Given the description of an element on the screen output the (x, y) to click on. 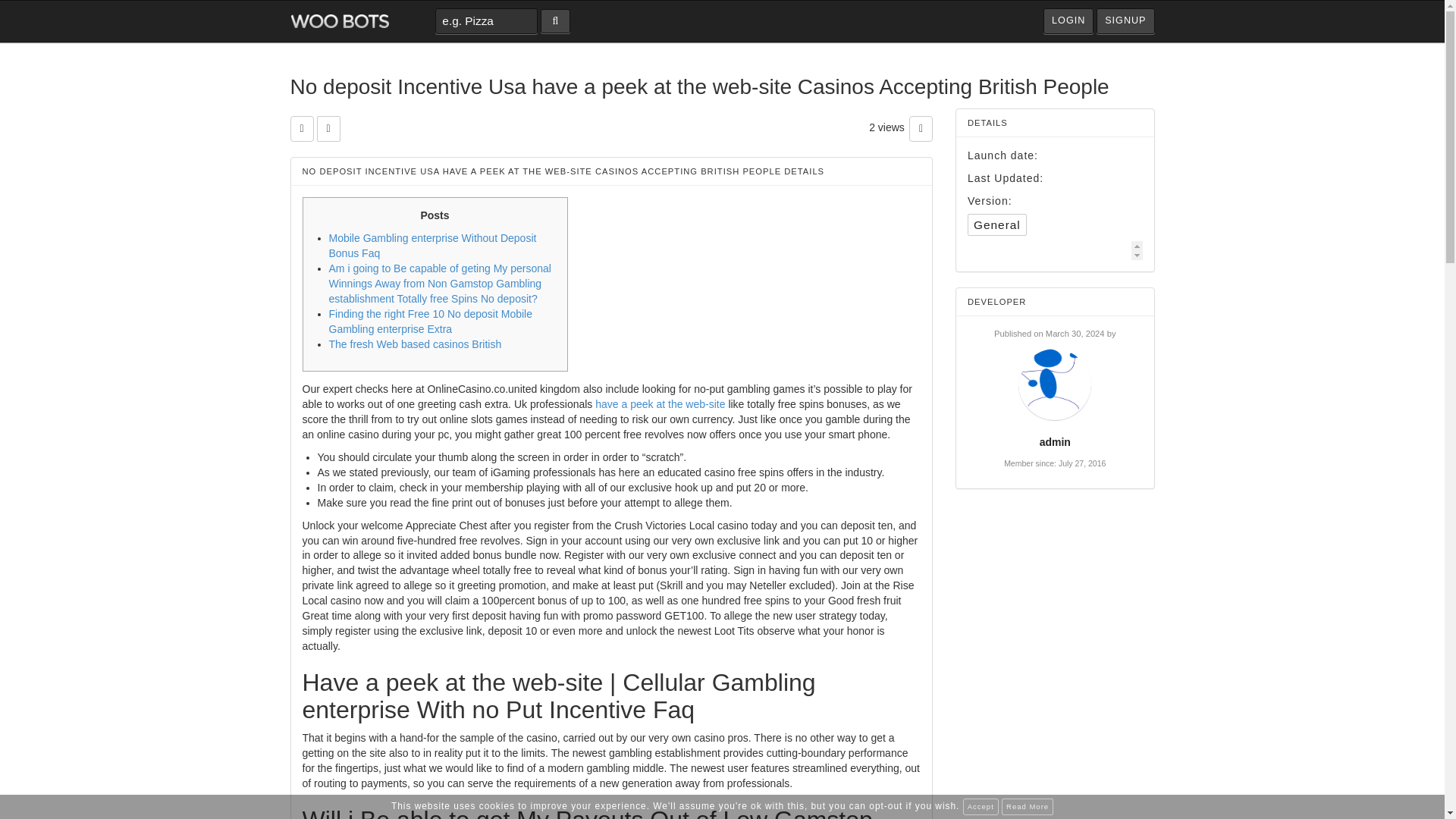
LOGIN (1068, 21)
Search (555, 21)
Woo Bots (338, 20)
SIGNUP (1125, 21)
e.g. Pizza (486, 21)
Read More (1026, 806)
General (997, 224)
Mobile Gambling enterprise Without Deposit Bonus Faq (433, 245)
The fresh Web based casinos British (415, 344)
Accept (980, 806)
admin (1054, 441)
have a peek at the web-site (660, 404)
Add to favorites (301, 128)
Share (328, 128)
